Given the description of an element on the screen output the (x, y) to click on. 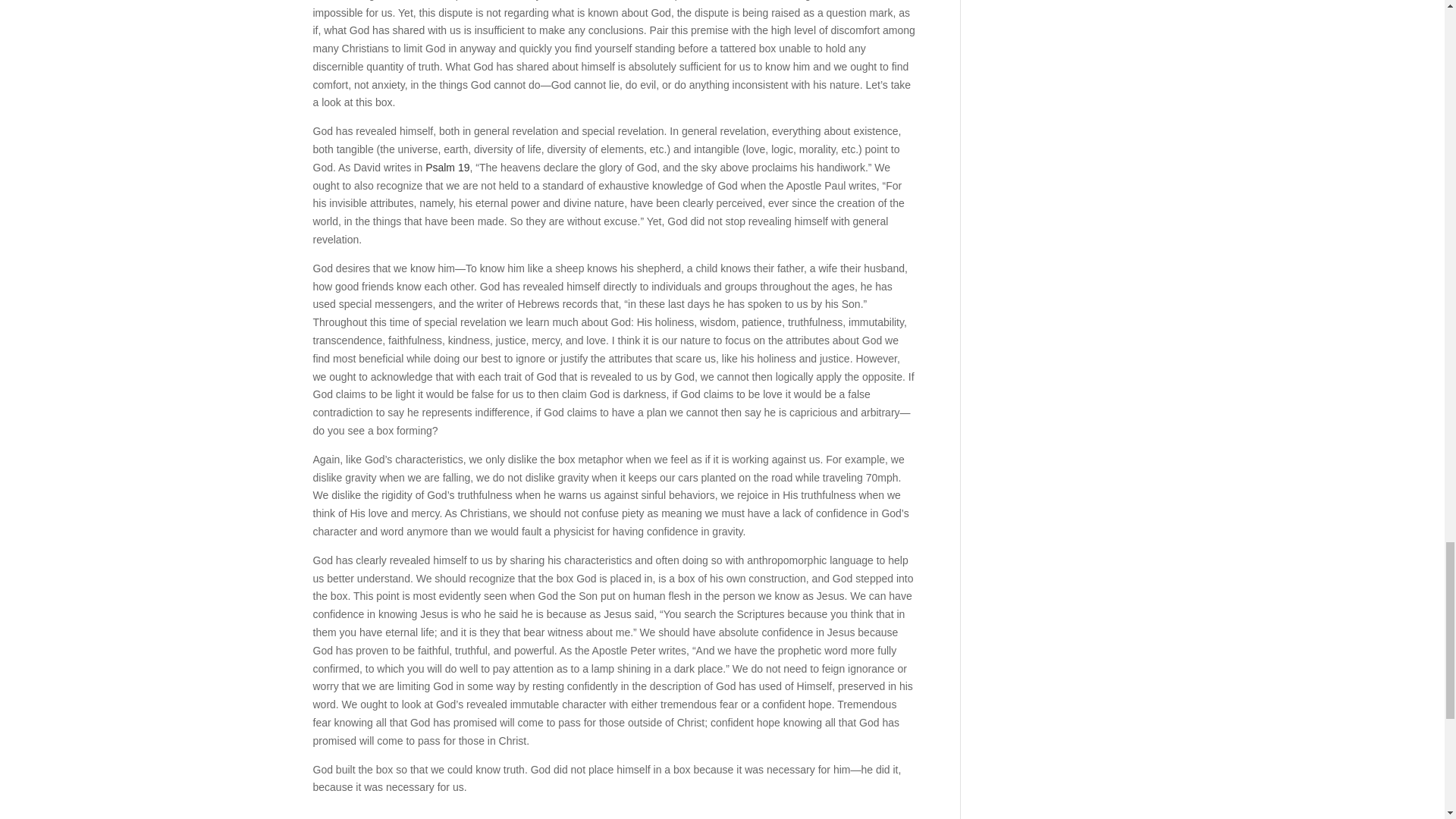
Psalm 19 (446, 167)
